Given the description of an element on the screen output the (x, y) to click on. 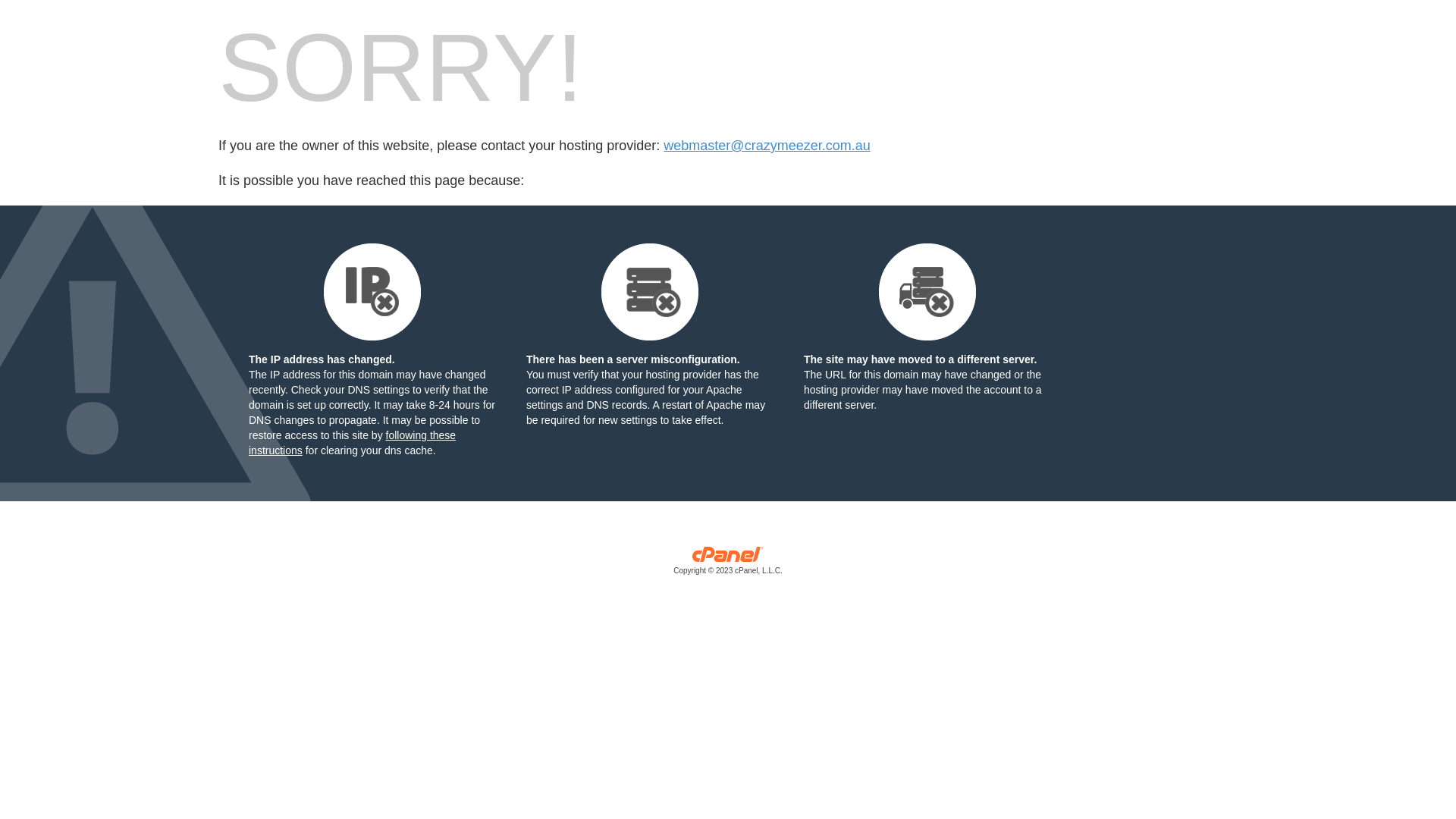
webmaster@crazymeezer.com.au Element type: text (766, 145)
following these instructions Element type: text (351, 442)
